Given the description of an element on the screen output the (x, y) to click on. 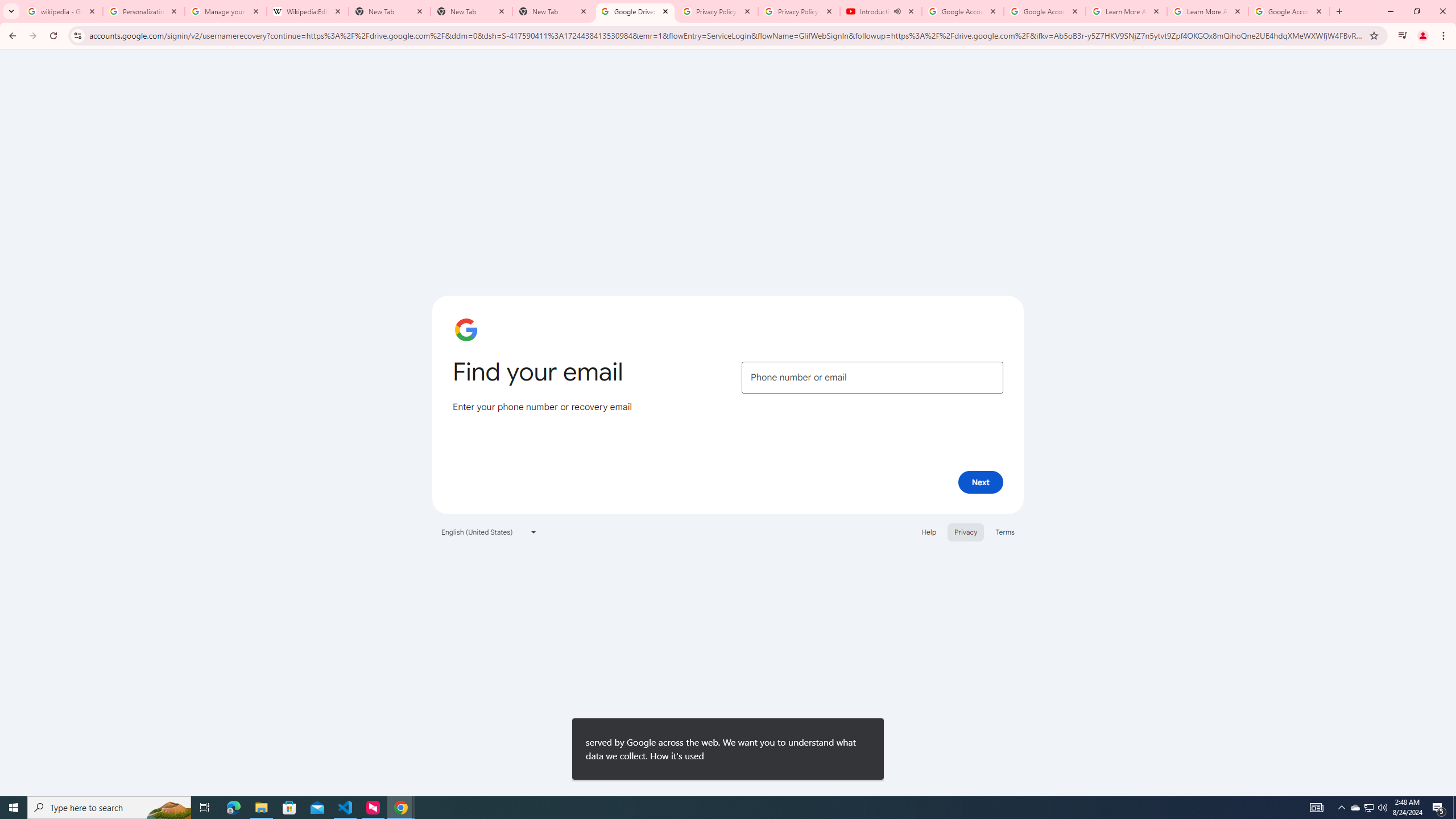
Google Drive: Sign-in (635, 11)
New Tab (470, 11)
Google Account (1289, 11)
